Given the description of an element on the screen output the (x, y) to click on. 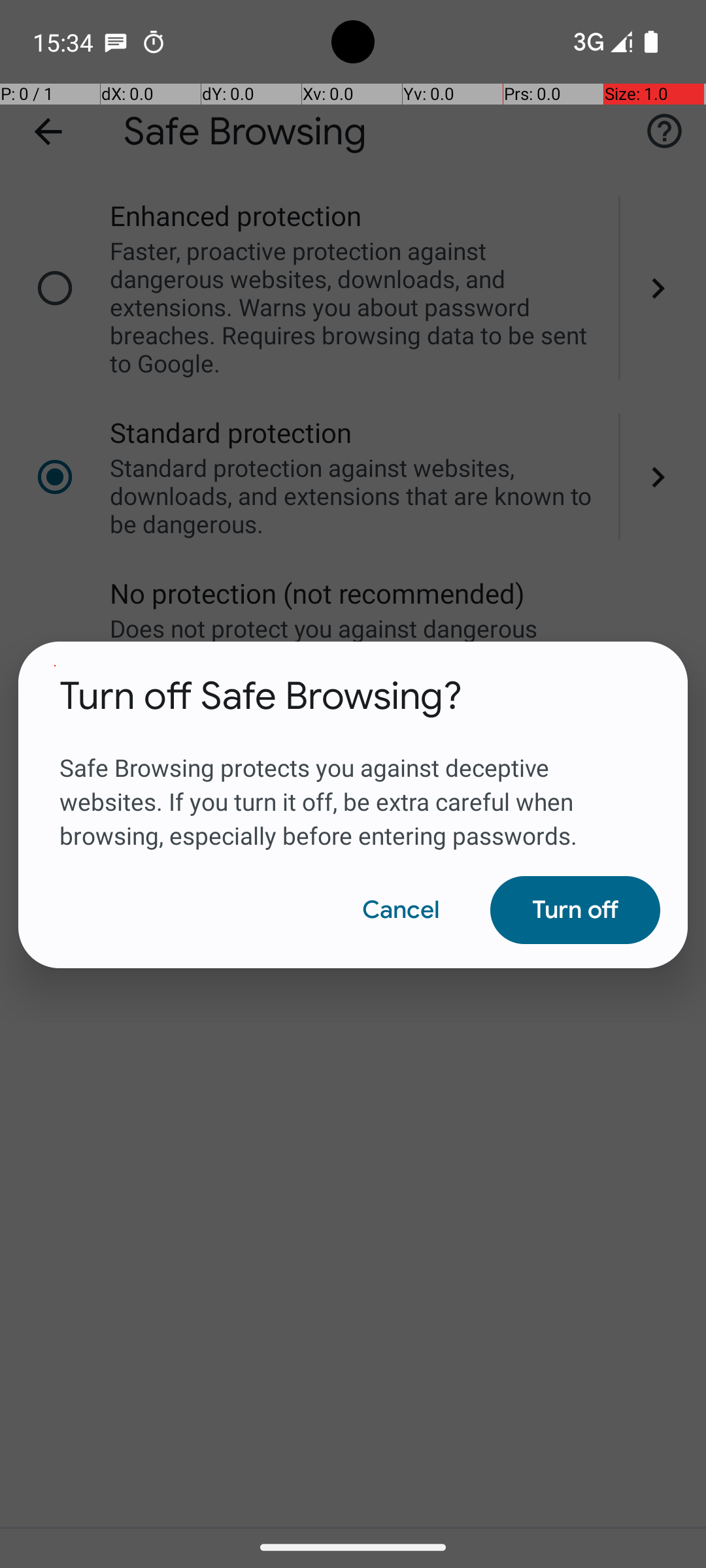
Turn off Safe Browsing? Element type: android.widget.TextView (260, 695)
Safe Browsing protects you against deceptive websites. If you turn it off, be extra careful when browsing, especially before entering passwords. Element type: android.widget.TextView (352, 785)
Turn off Element type: android.widget.Button (575, 909)
